Given the description of an element on the screen output the (x, y) to click on. 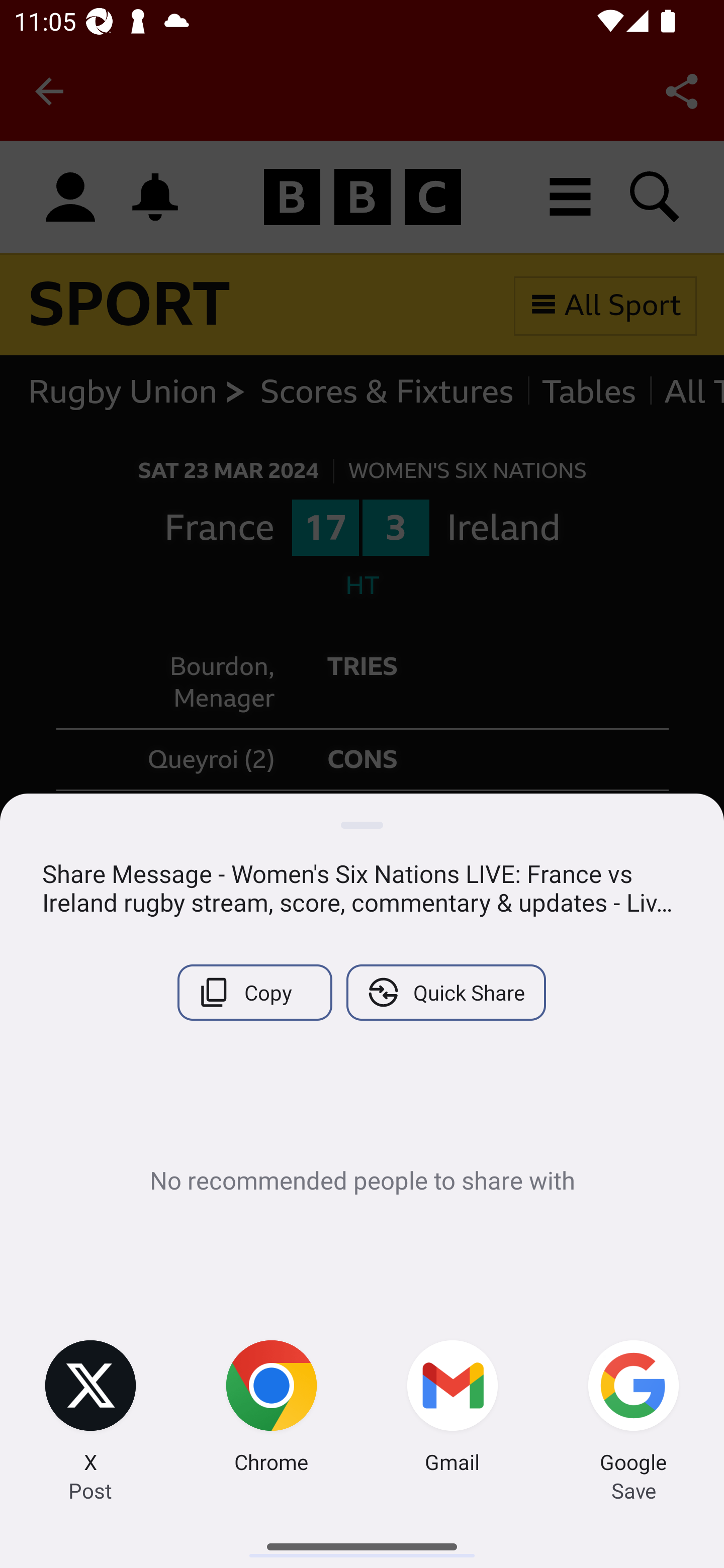
Copy (254, 992)
Quick Share (445, 992)
X Post (90, 1409)
Chrome (271, 1409)
Gmail (452, 1409)
Google Save (633, 1409)
